Given the description of an element on the screen output the (x, y) to click on. 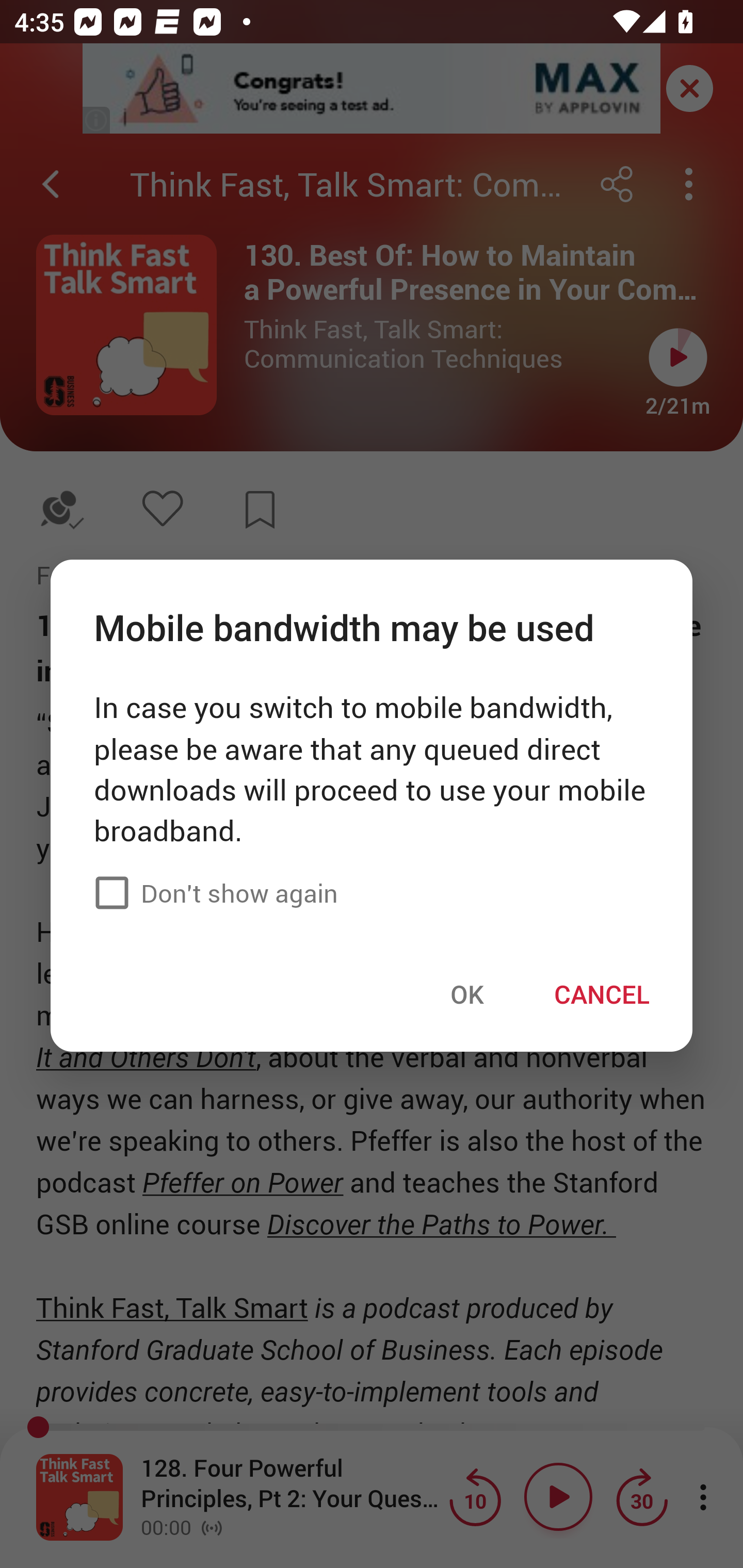
Don't show again (371, 892)
OK (466, 994)
CANCEL (600, 994)
